Given the description of an element on the screen output the (x, y) to click on. 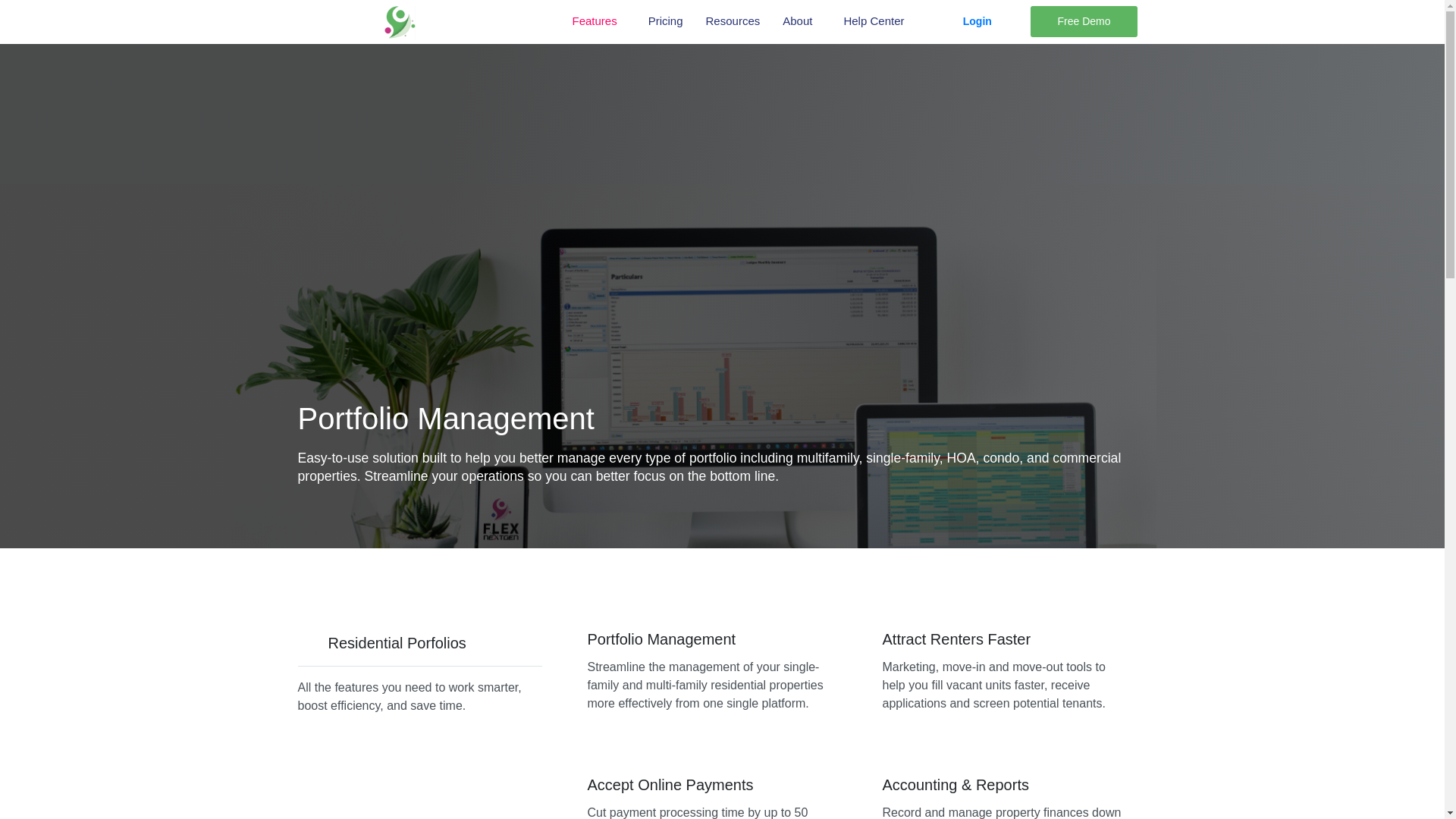
Pricing (665, 20)
Free Demo (1083, 20)
Help Center (877, 20)
Login (976, 20)
About (801, 20)
Features (598, 20)
Resources (732, 20)
